Given the description of an element on the screen output the (x, y) to click on. 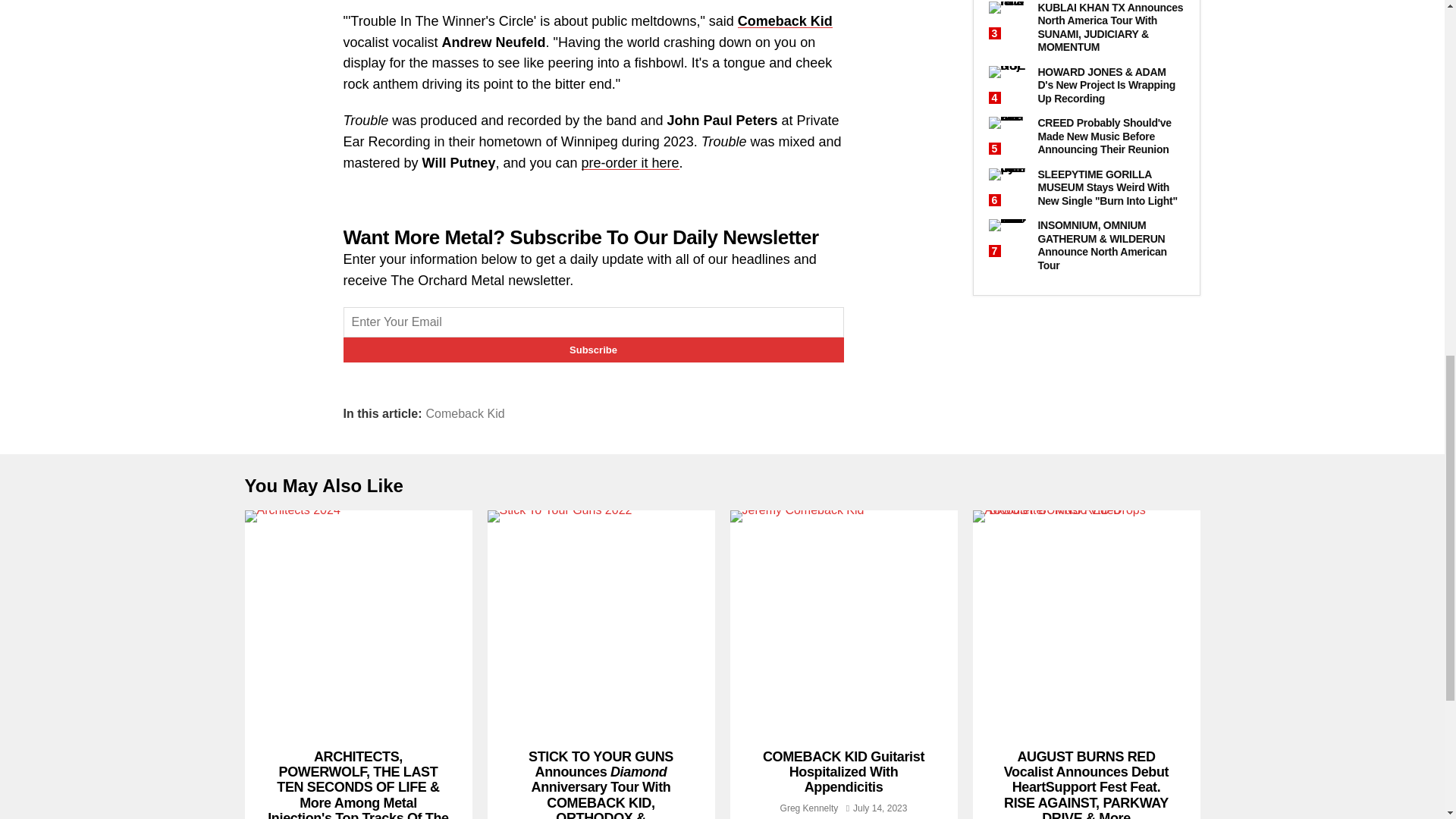
Posts by Greg Kennelty (809, 808)
